Given the description of an element on the screen output the (x, y) to click on. 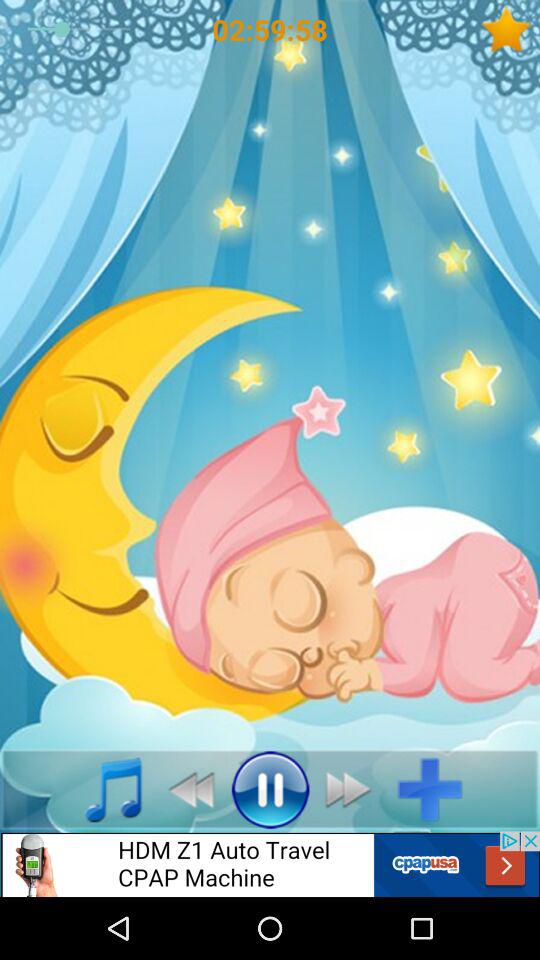
play music button (102, 789)
